Given the description of an element on the screen output the (x, y) to click on. 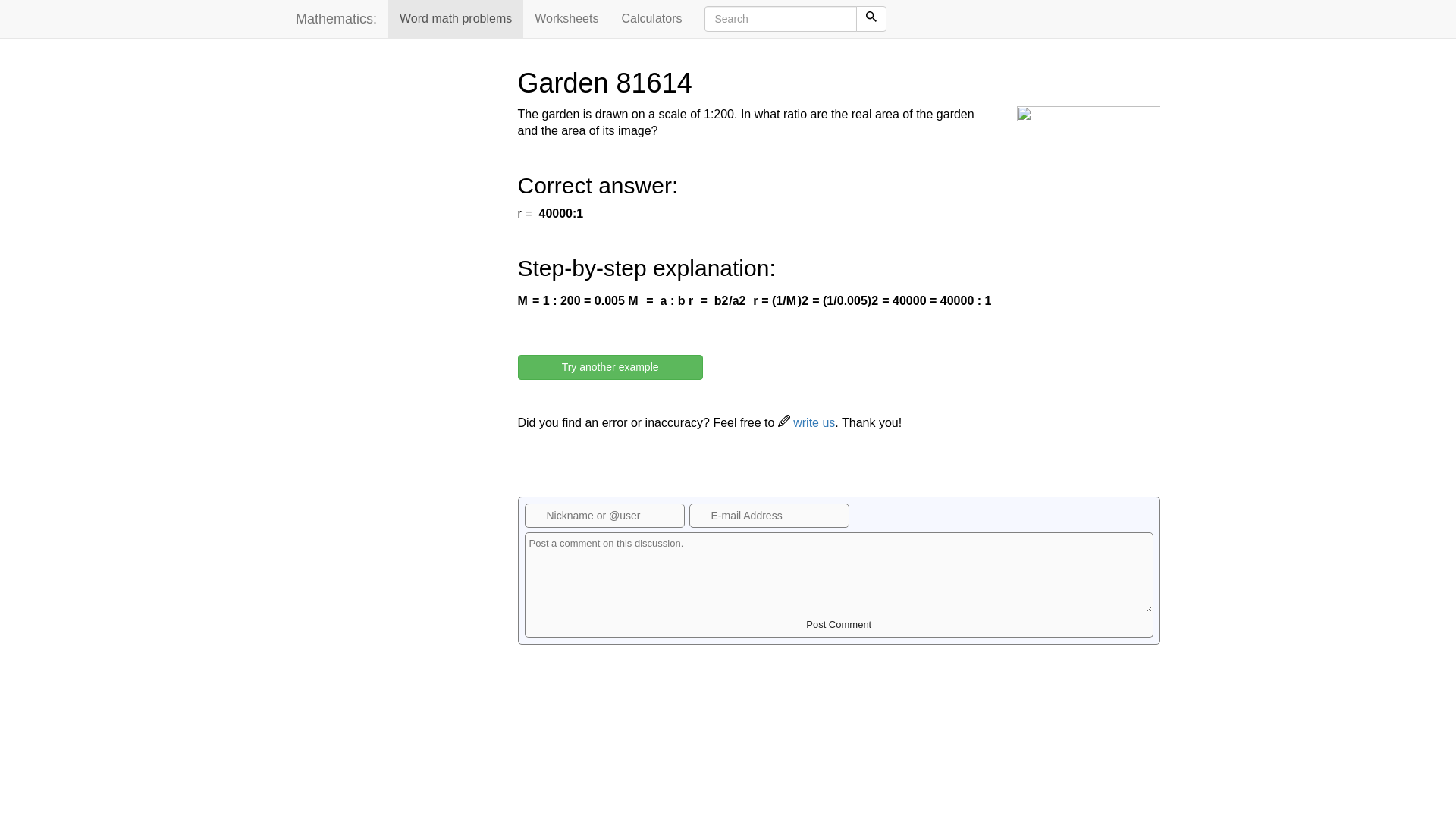
write us (806, 422)
Word math problems (455, 18)
Post Comment (839, 625)
Mathematics: (335, 18)
Correct result (560, 213)
Nickname (604, 515)
E-mail Address (768, 515)
Post Comment (839, 625)
Calculators (651, 18)
Try another example (608, 367)
Elementary arithmetic (566, 18)
Worksheets (566, 18)
